Given the description of an element on the screen output the (x, y) to click on. 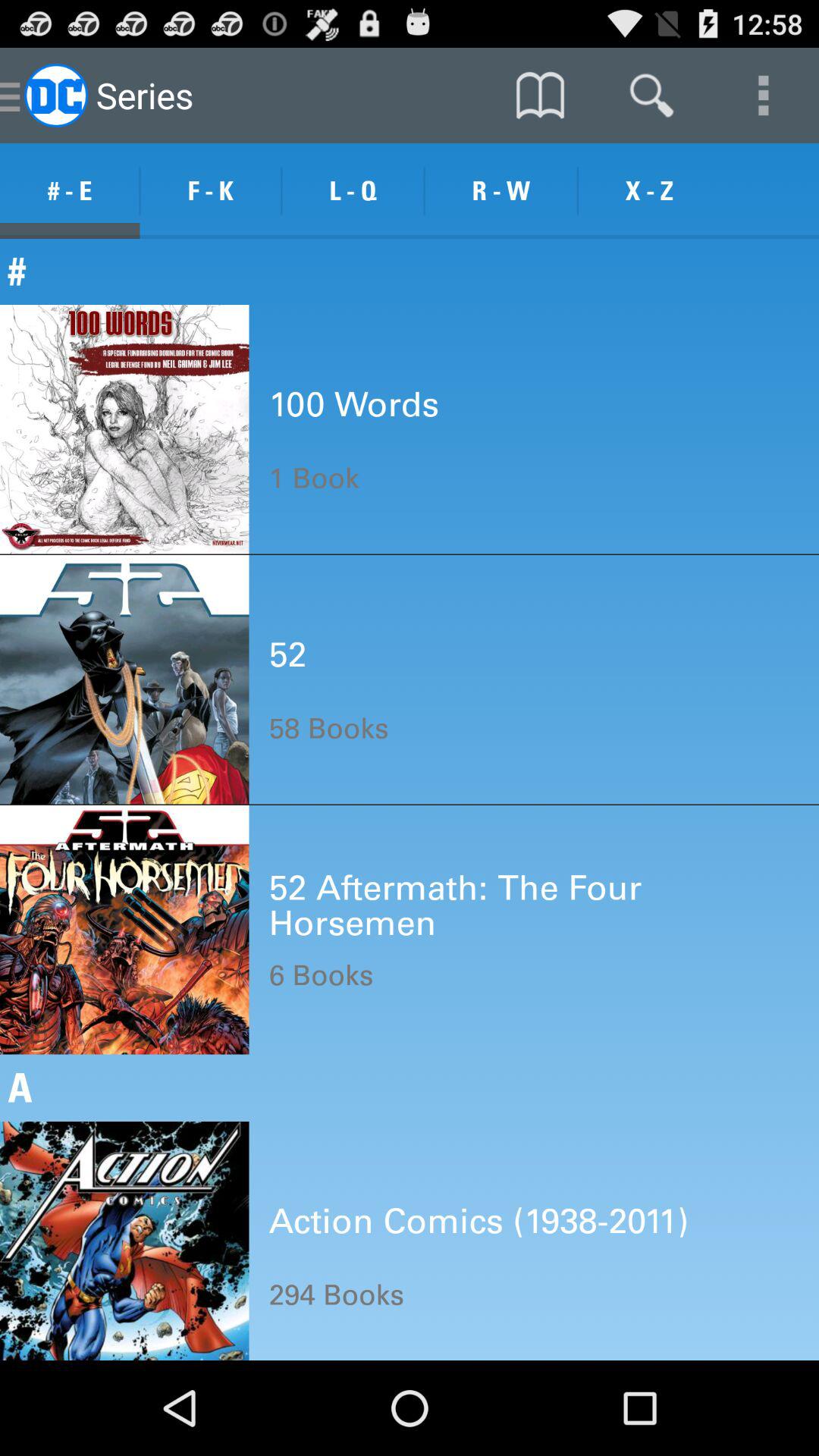
flip to the # - e item (69, 190)
